Given the description of an element on the screen output the (x, y) to click on. 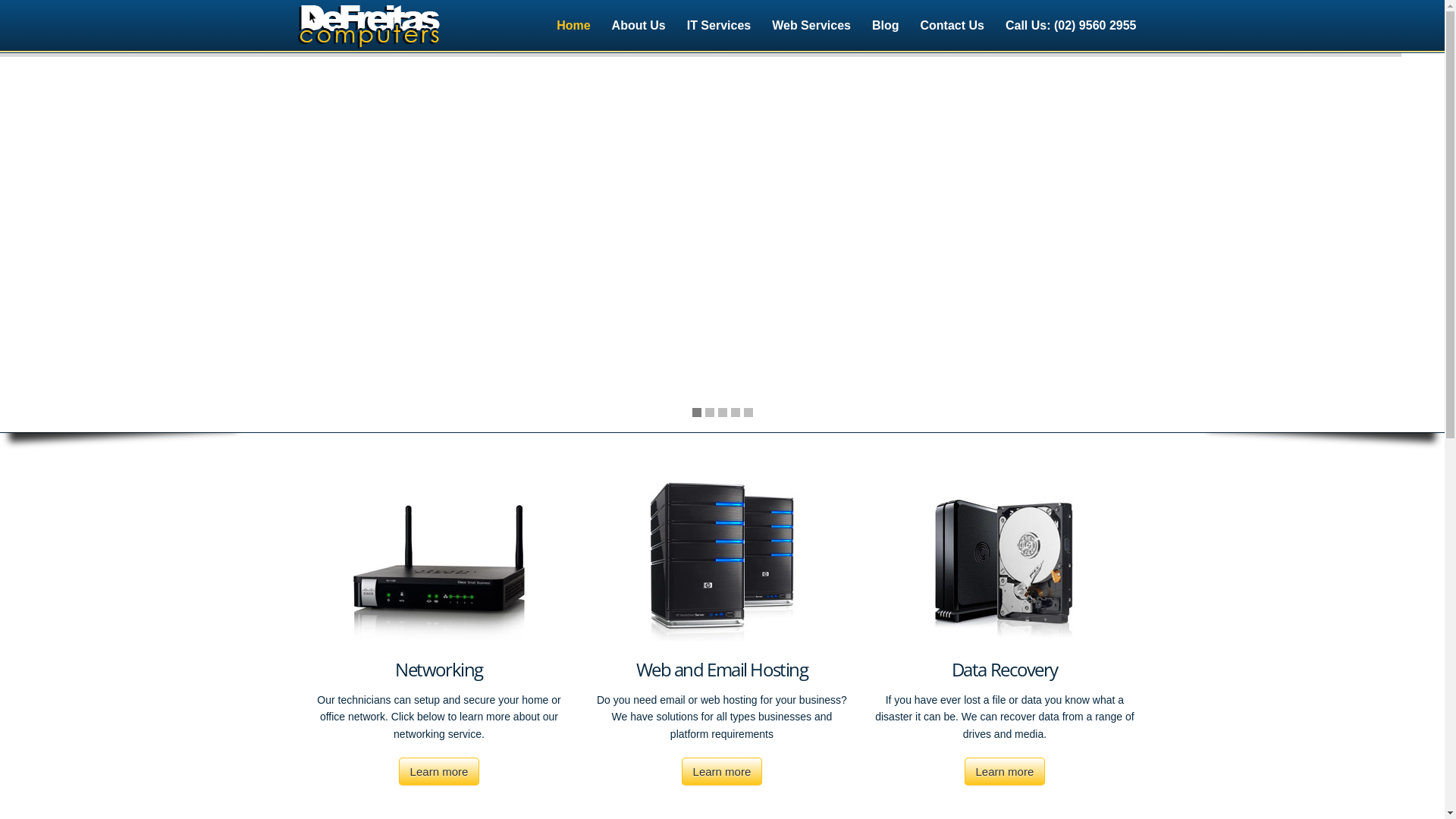
About Us Element type: text (638, 24)
Click here to book a consultation > Element type: text (423, 280)
Call Us: (02) 9560 2955 Element type: text (1070, 24)
Learn more Element type: text (439, 771)
Blog Element type: text (885, 24)
Learn more Element type: text (721, 771)
Contact Us Element type: text (952, 24)
Learn more Element type: text (1004, 771)
Home Element type: text (573, 24)
Web Services Element type: text (811, 24)
IT Services Element type: text (719, 24)
